Given the description of an element on the screen output the (x, y) to click on. 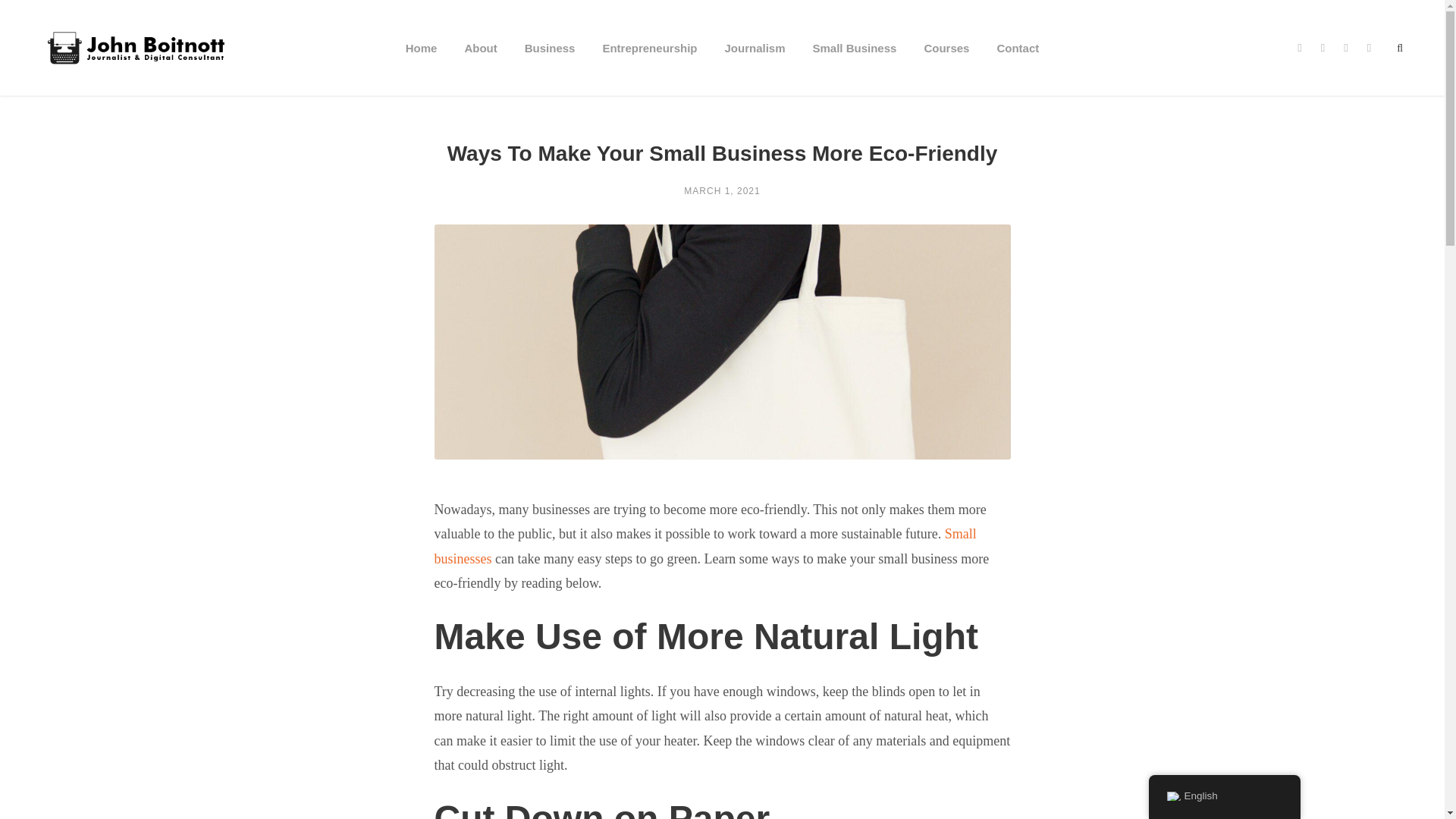
Small Business (854, 66)
Journalism (753, 66)
Entrepreneurship (649, 66)
MARCH 1, 2021 (722, 190)
Small businesses (704, 545)
Business (549, 66)
